Given the description of an element on the screen output the (x, y) to click on. 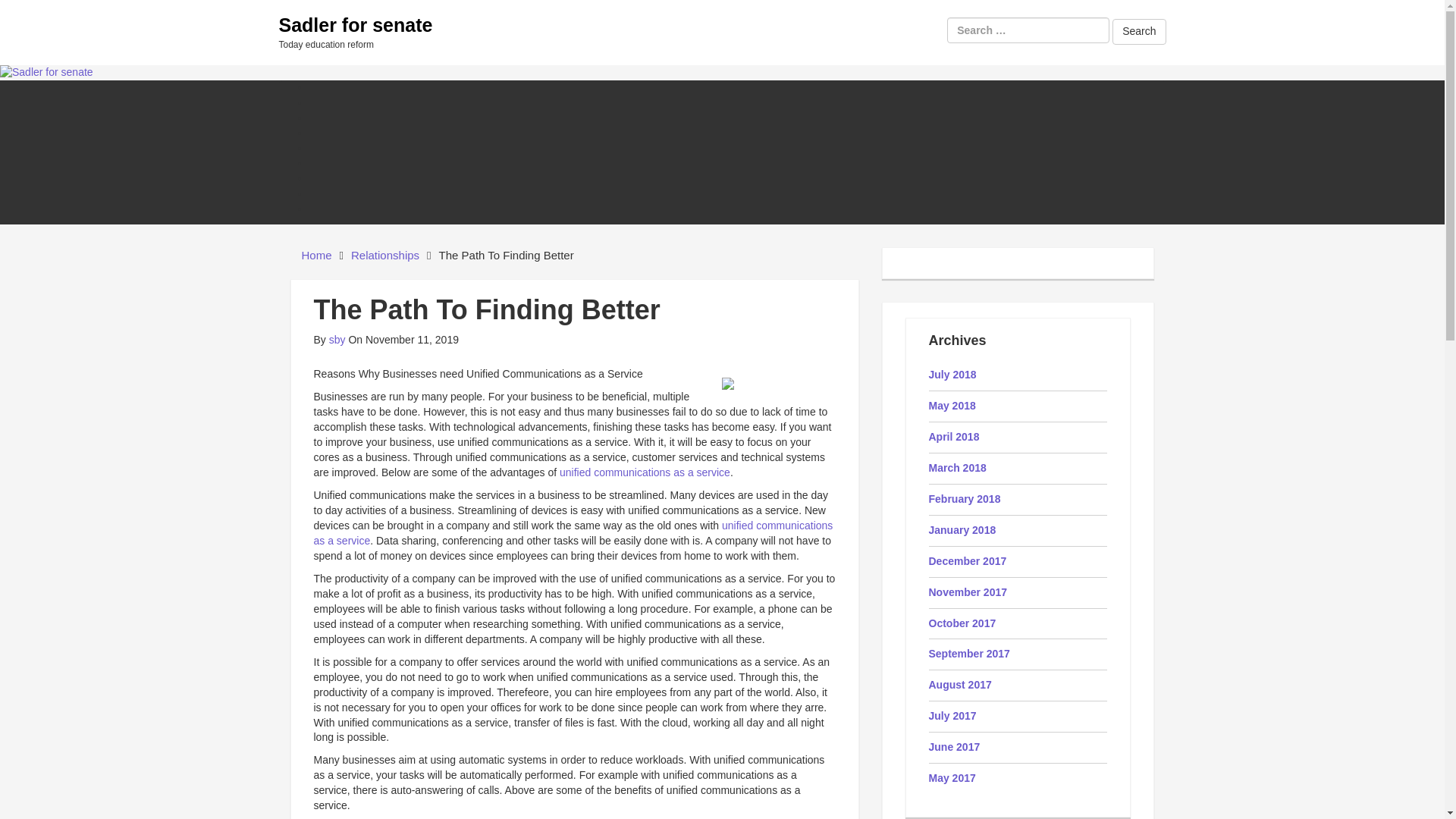
Sadler for senate (46, 71)
Sadler for senate (355, 25)
Search (1139, 31)
Search (1139, 31)
May 2017 (951, 777)
March 2018 (956, 467)
August 2017 (959, 684)
July 2017 (951, 715)
Monday, November 11, 2019, 5:16 am (402, 339)
unified communications as a service (573, 533)
